Given the description of an element on the screen output the (x, y) to click on. 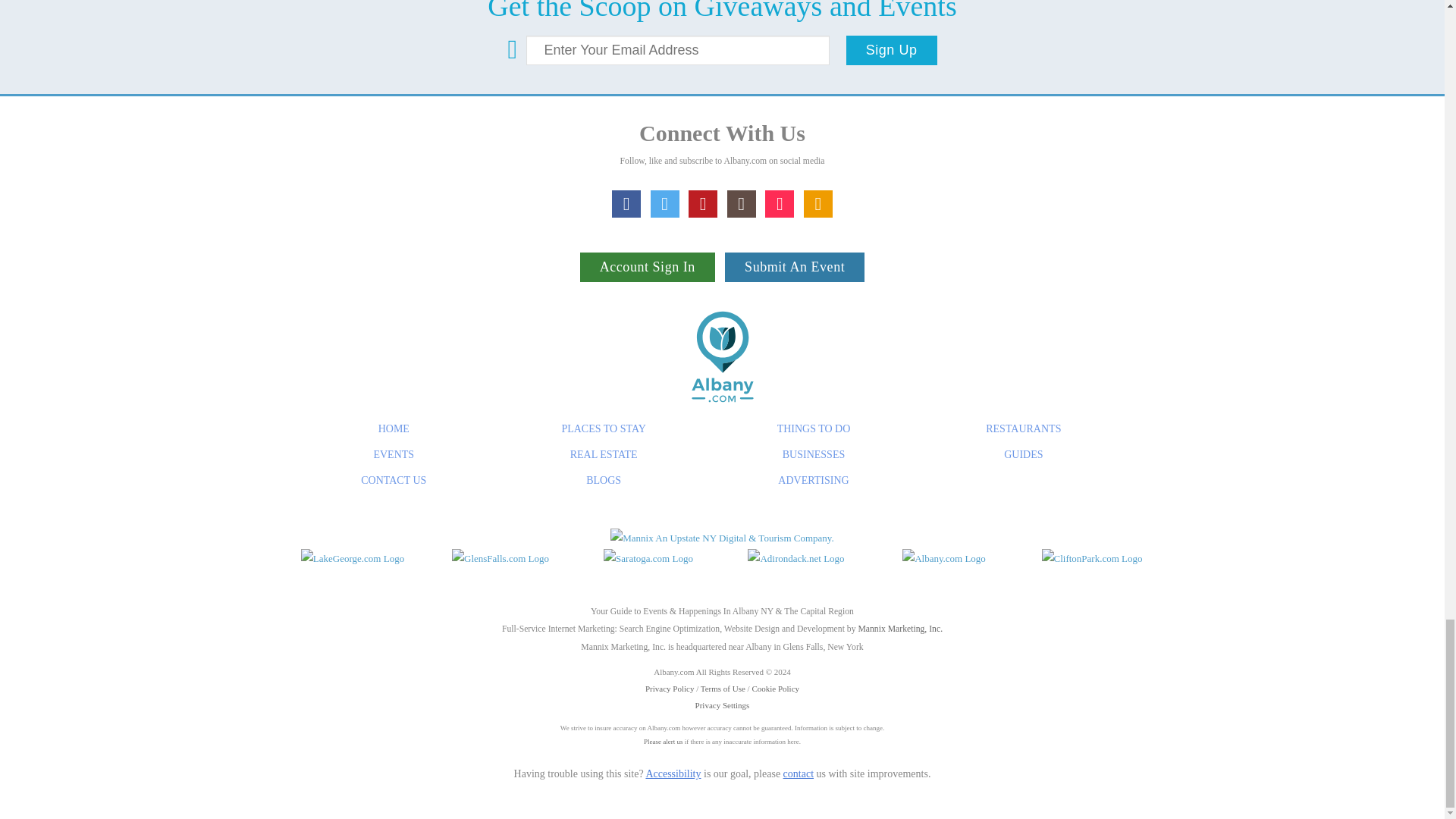
Facebook (625, 203)
X (664, 203)
Instagram (740, 203)
Pinterest (702, 203)
My Planner (817, 203)
TikTok (779, 203)
